Given the description of an element on the screen output the (x, y) to click on. 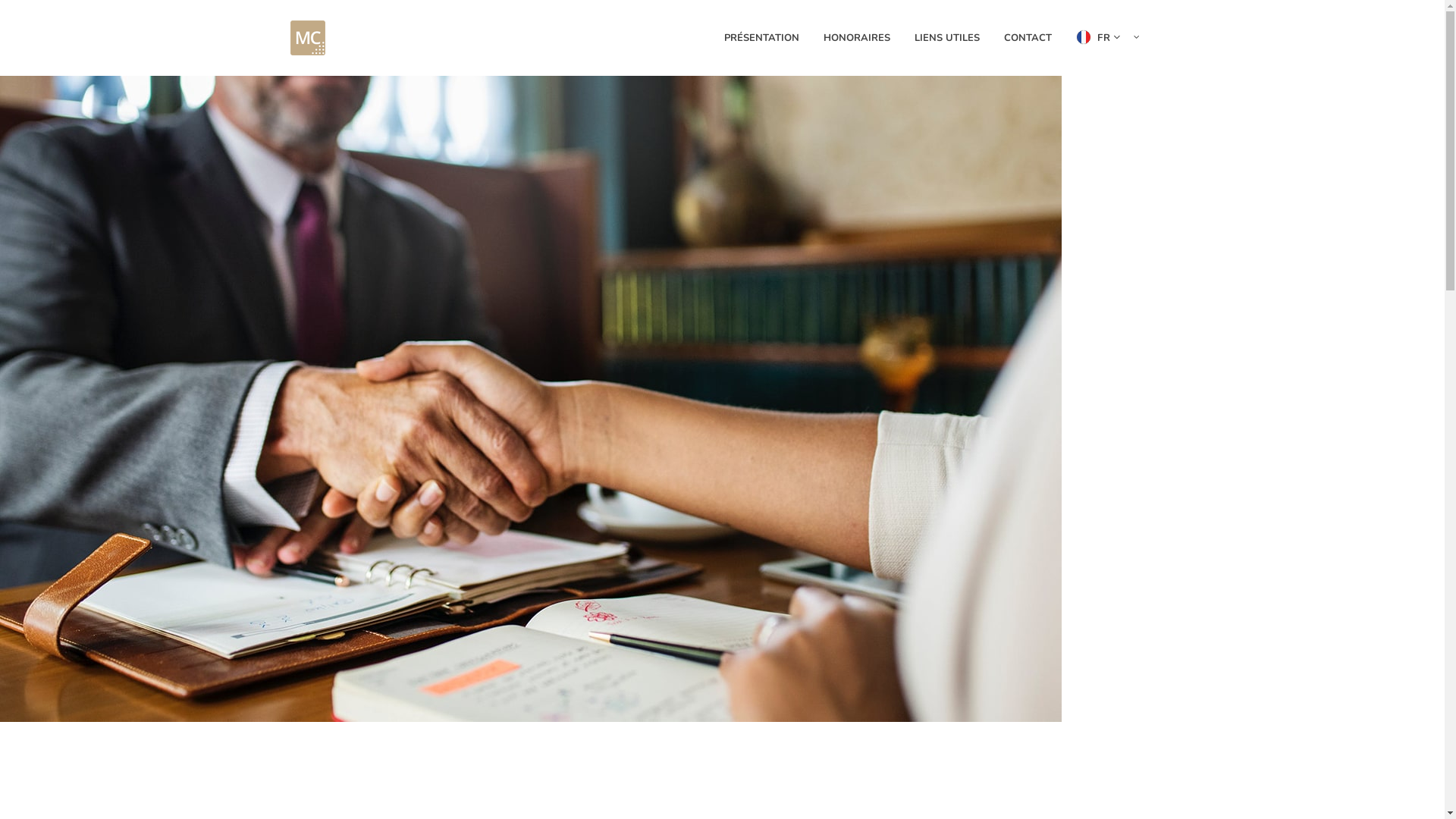
CONTACT Element type: text (1026, 37)
HONORAIRES Element type: text (855, 37)
Avocat bruxelles Element type: hover (306, 37)
FR Element type: text (1109, 37)
LIENS UTILES Element type: text (946, 37)
Avocat droit de la famille Element type: hover (530, 398)
